Given the description of an element on the screen output the (x, y) to click on. 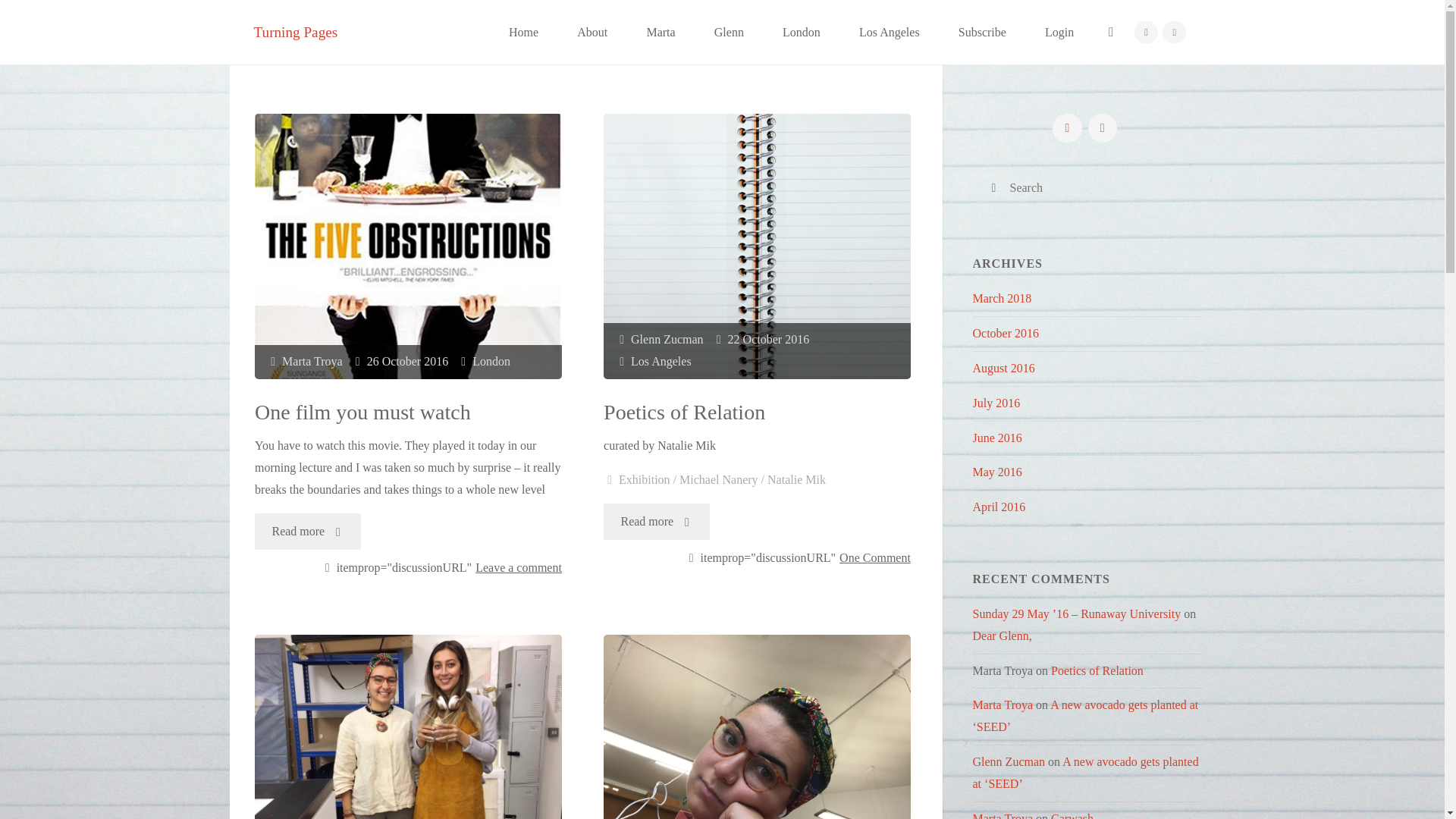
Home (523, 32)
Author (621, 338)
Subscribe (982, 32)
One film you must watch (408, 246)
Author (272, 360)
An artist's studio exchange in the cloud (295, 31)
About (592, 32)
Glenn (728, 32)
Login (1059, 32)
